Given the description of an element on the screen output the (x, y) to click on. 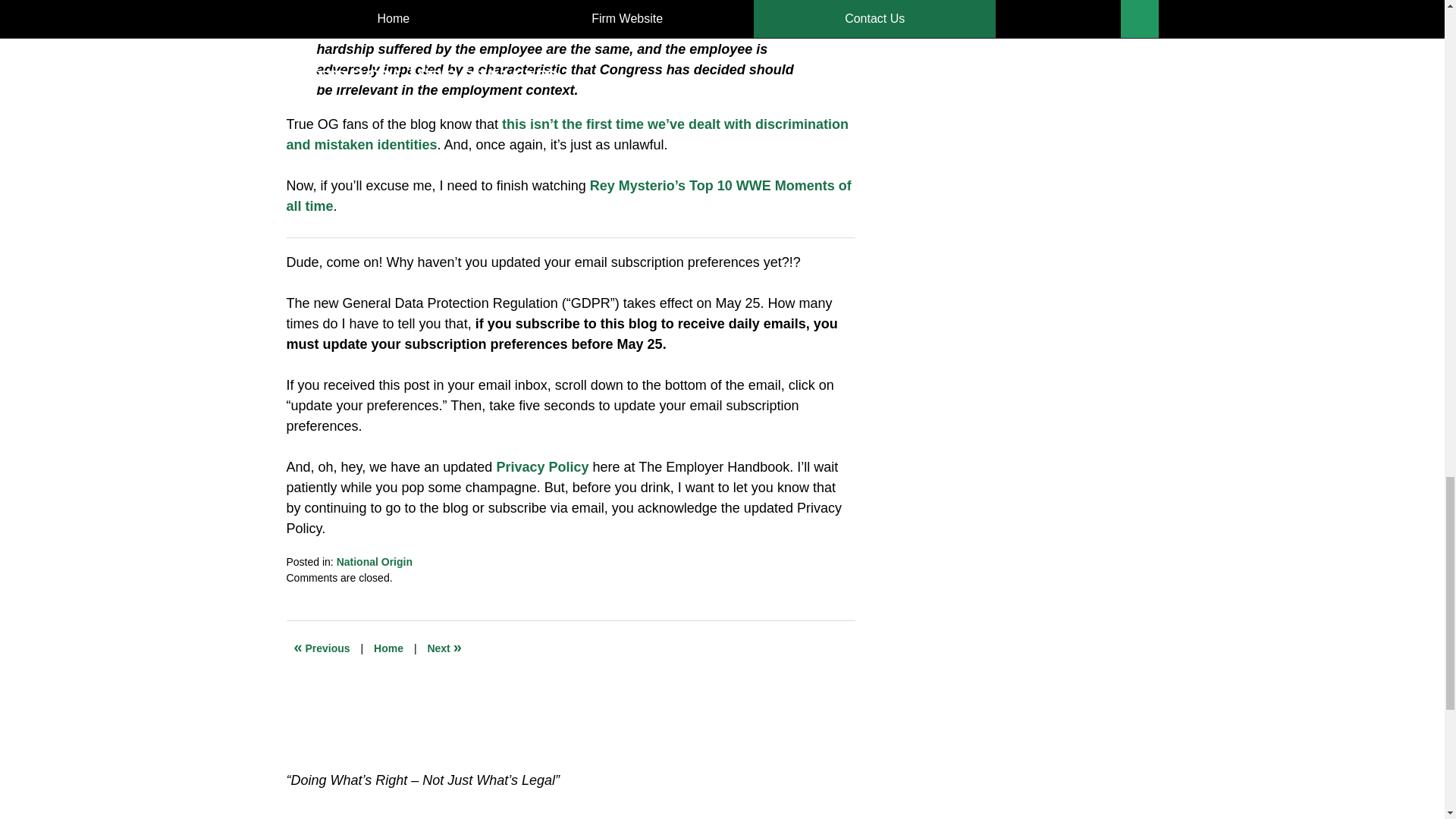
Privacy Policy (542, 467)
View all posts in National Origin (374, 562)
Home (388, 647)
National Origin (374, 562)
